Given the description of an element on the screen output the (x, y) to click on. 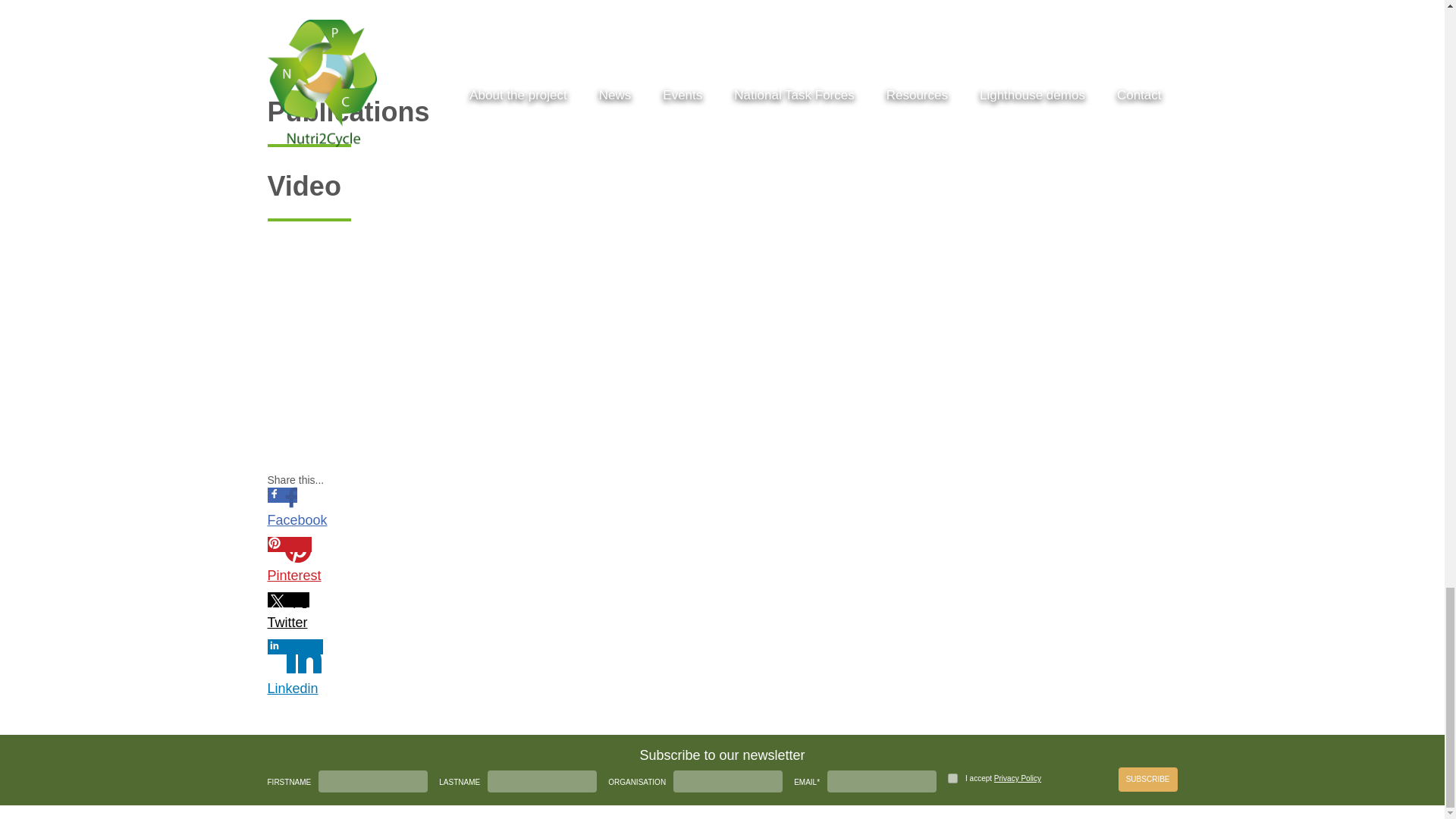
Linkedin (296, 688)
Pinterest (296, 575)
Pinterest (296, 560)
SUBSCRIBE (1147, 779)
SUBSCRIBE (1147, 779)
Facebook (296, 519)
Twitter (296, 611)
Facebook (296, 507)
Twitter (296, 622)
Linkedin (296, 667)
2955881 (952, 777)
Privacy Policy (1017, 777)
